Given the description of an element on the screen output the (x, y) to click on. 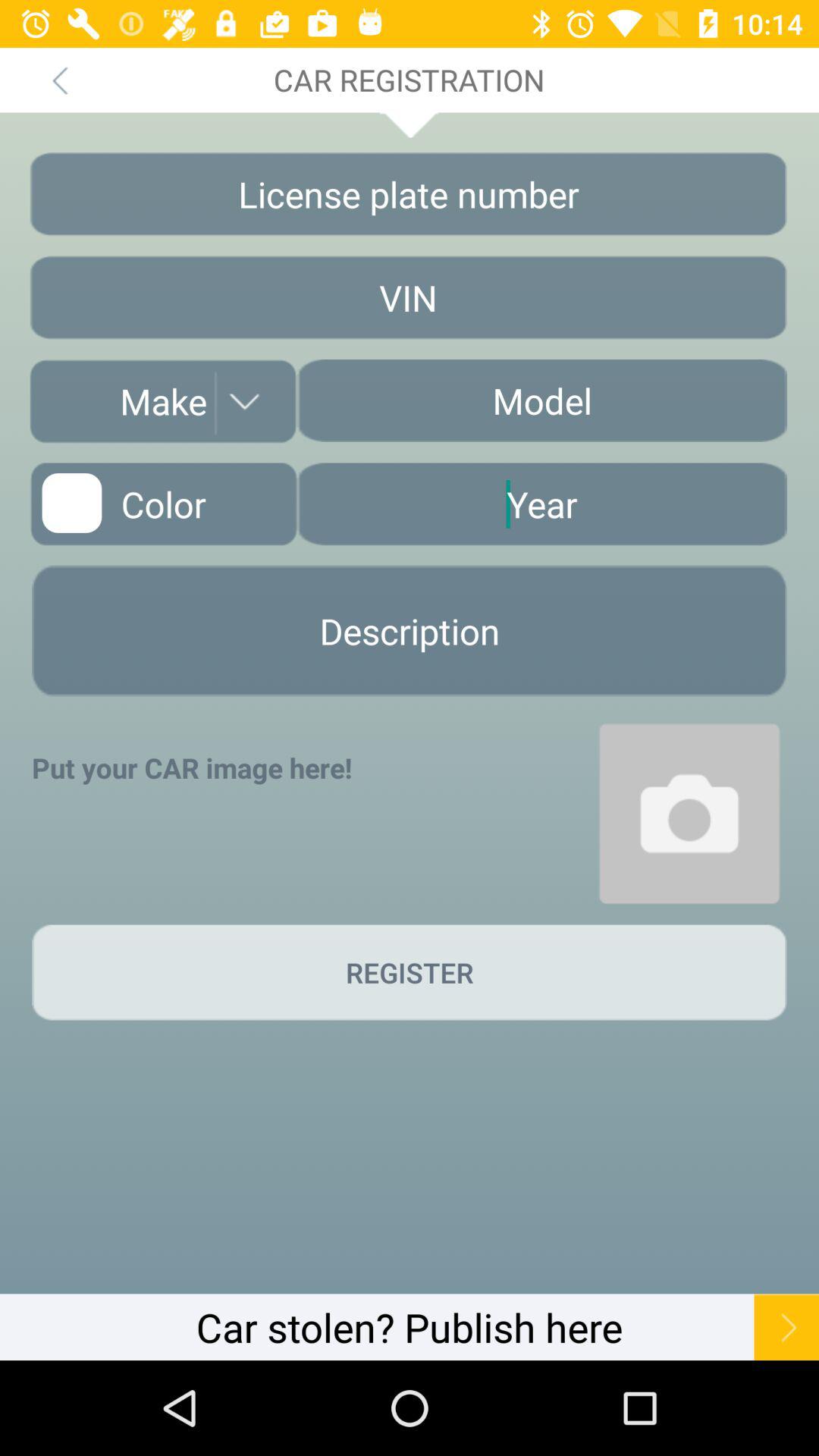
go back (59, 79)
